Given the description of an element on the screen output the (x, y) to click on. 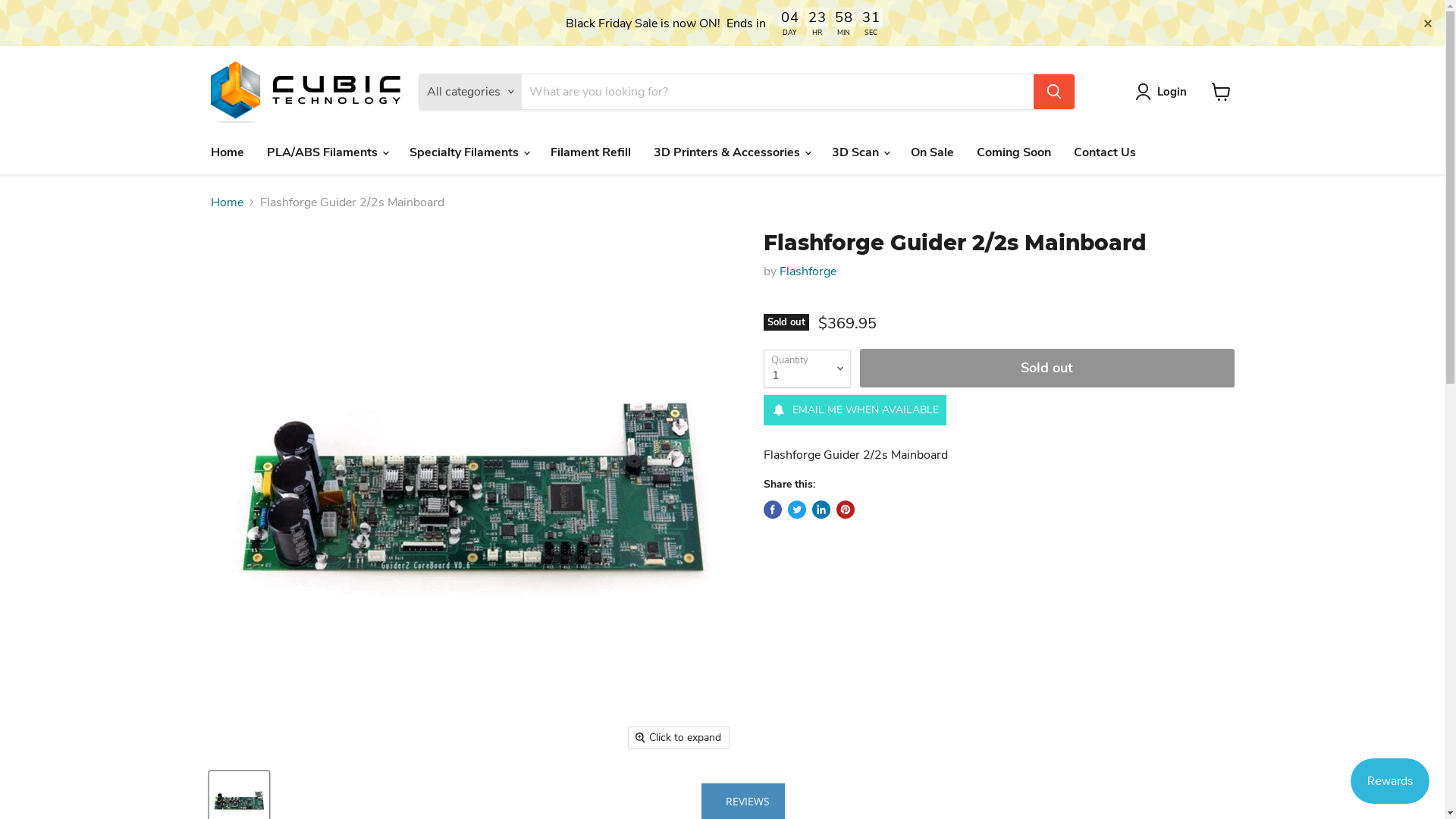
Click to expand Element type: text (678, 737)
Flashforge Element type: text (807, 271)
Tweet on Twitter Element type: text (796, 509)
Smile.io Rewards Program Launcher Element type: hover (1389, 780)
Share on Facebook Element type: text (771, 509)
Share on LinkedIn Element type: text (820, 509)
On Sale Element type: text (932, 152)
Filament Refill Element type: text (589, 152)
Pin on Pinterest Element type: text (844, 509)
Sold out Element type: text (1046, 367)
Home Element type: text (226, 152)
View cart Element type: text (1221, 91)
Close Element type: hover (1427, 23)
Home Element type: text (226, 202)
Contact Us Element type: text (1103, 152)
Coming Soon Element type: text (1012, 152)
EMAIL ME WHEN AVAILABLE Element type: text (853, 410)
Login Element type: text (1171, 91)
